Given the description of an element on the screen output the (x, y) to click on. 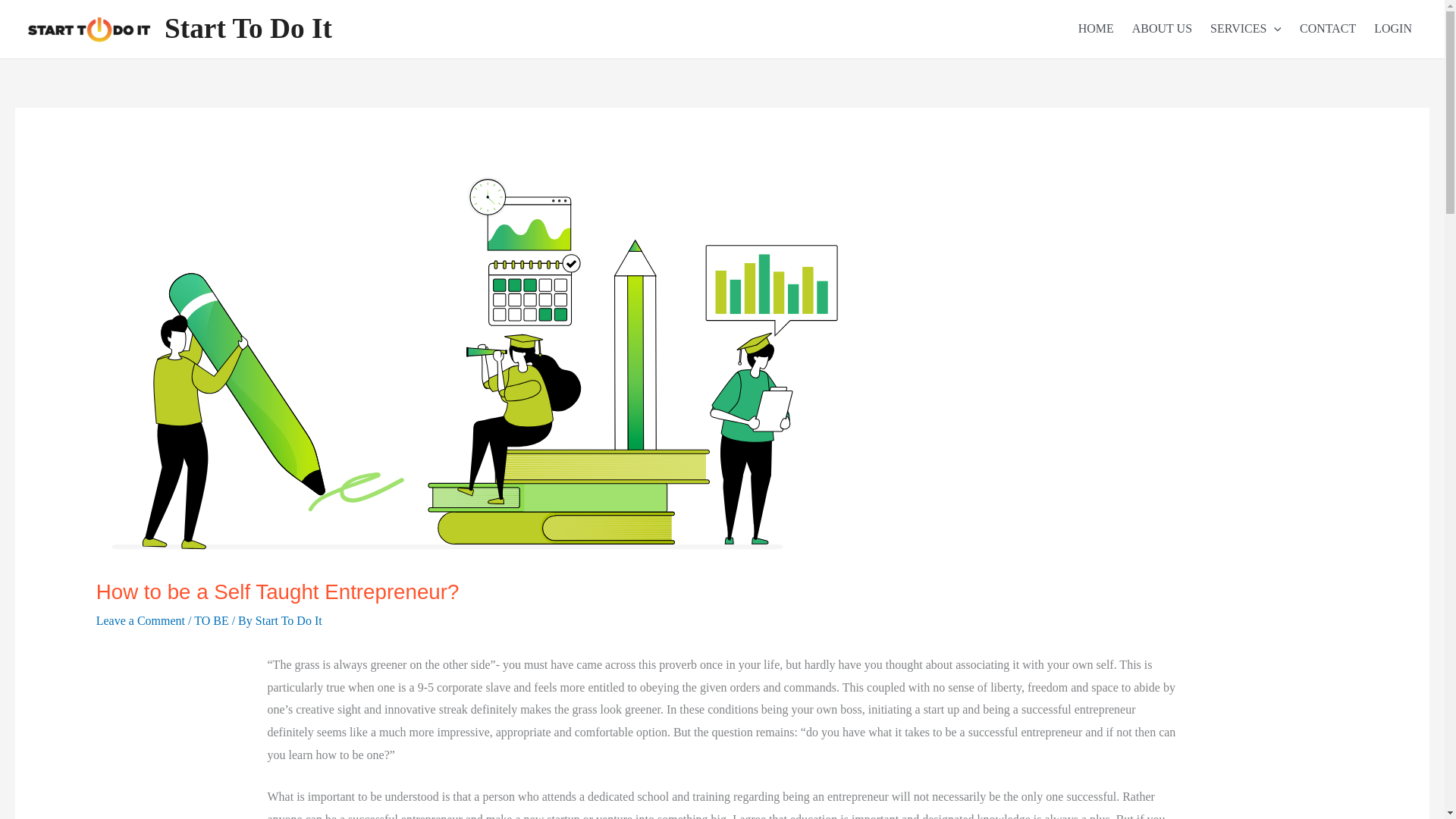
View all posts by Start To Do It (288, 620)
HOME (1092, 29)
Start To Do It (247, 28)
LOGIN (1389, 29)
Start To Do It (288, 620)
Leave a Comment (140, 620)
TO BE (210, 620)
CONTACT (1324, 29)
ABOUT US (1158, 29)
SERVICES (1242, 29)
